Given the description of an element on the screen output the (x, y) to click on. 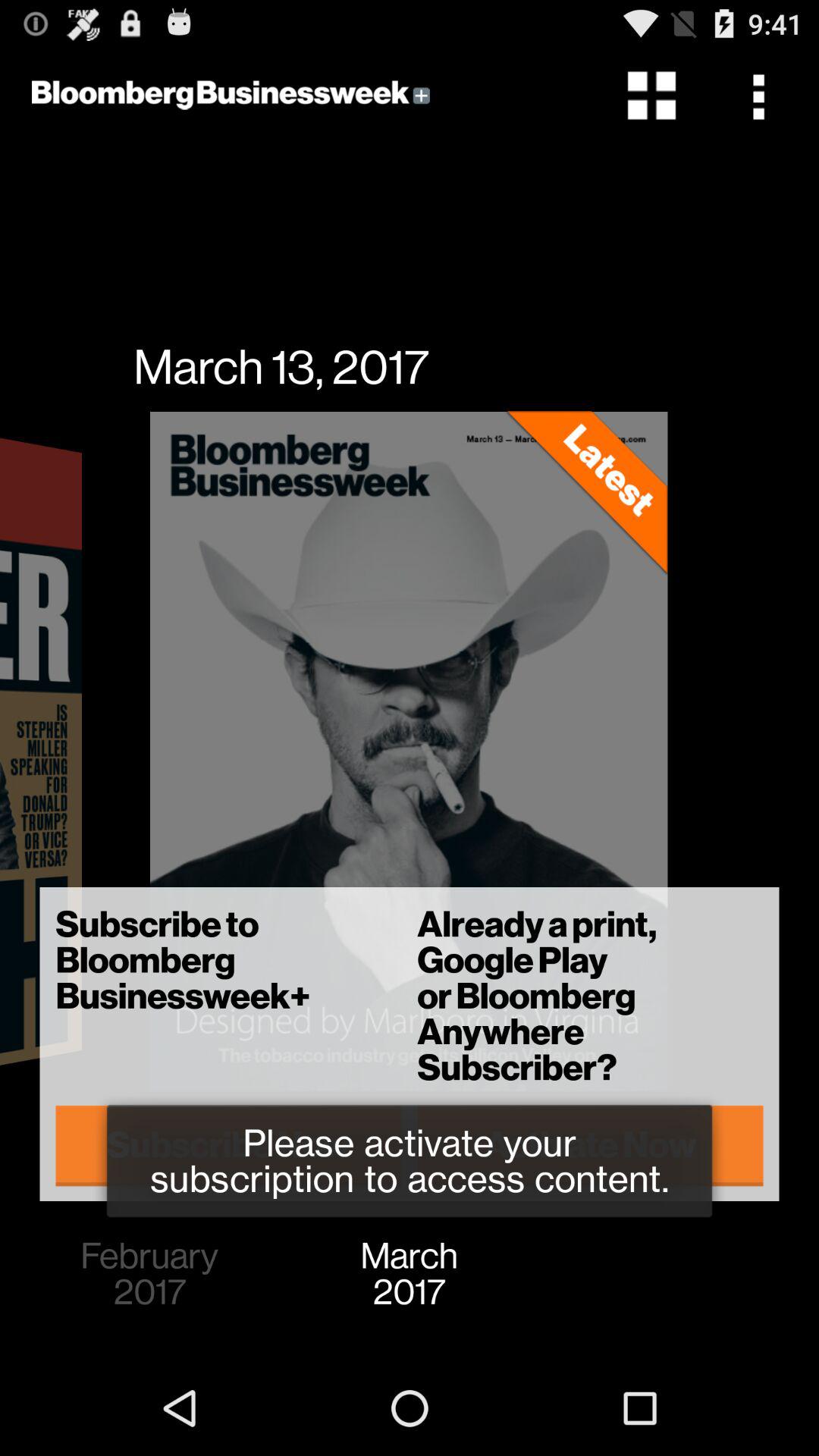
open icon to the left of already a print item (228, 1145)
